Given the description of an element on the screen output the (x, y) to click on. 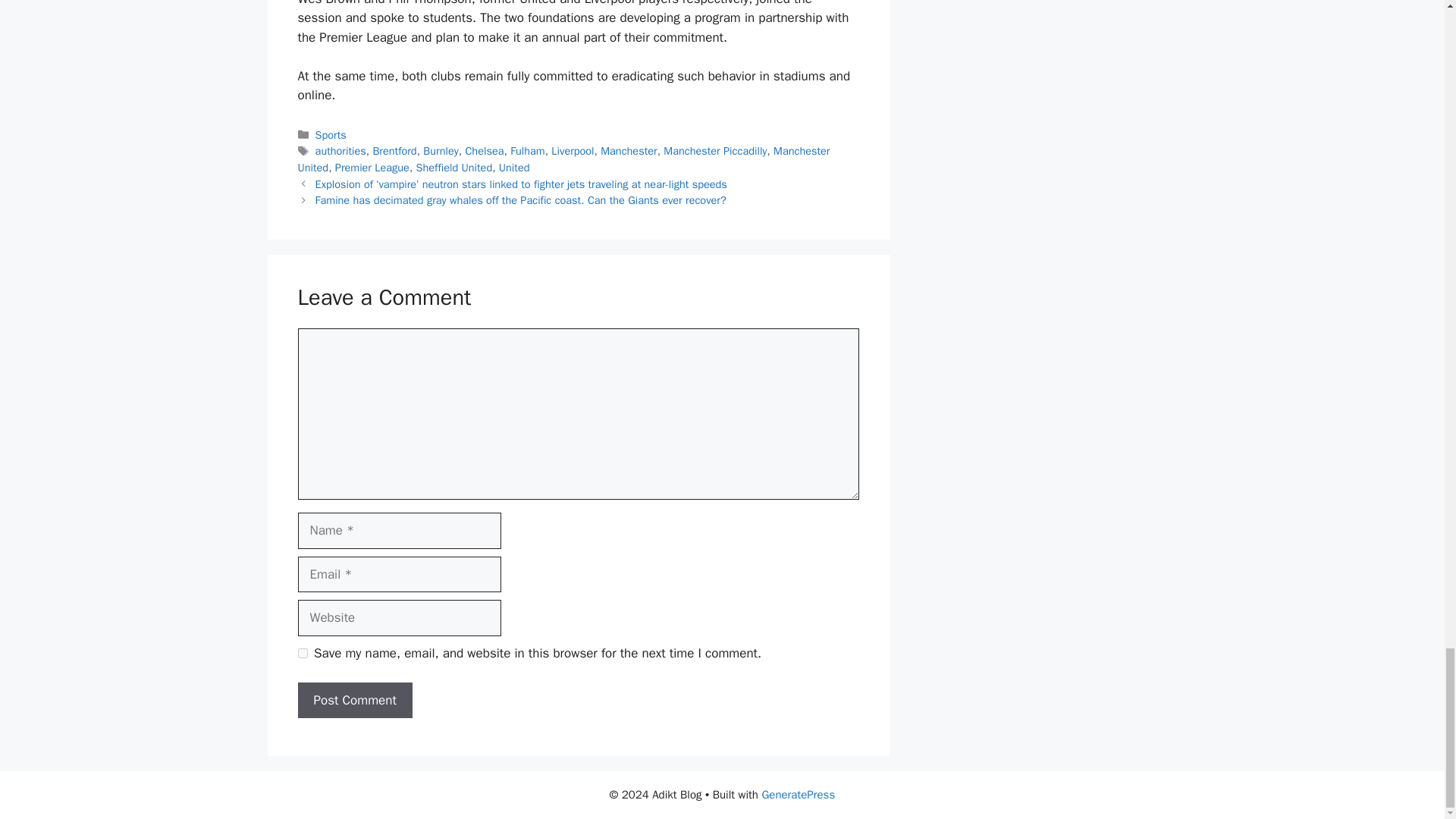
yes (302, 653)
Sports (330, 134)
Chelsea (483, 151)
Post Comment (354, 700)
Brentford (394, 151)
authorities (340, 151)
Burnley (440, 151)
Liverpool (572, 151)
Manchester United (563, 159)
United (514, 167)
